Given the description of an element on the screen output the (x, y) to click on. 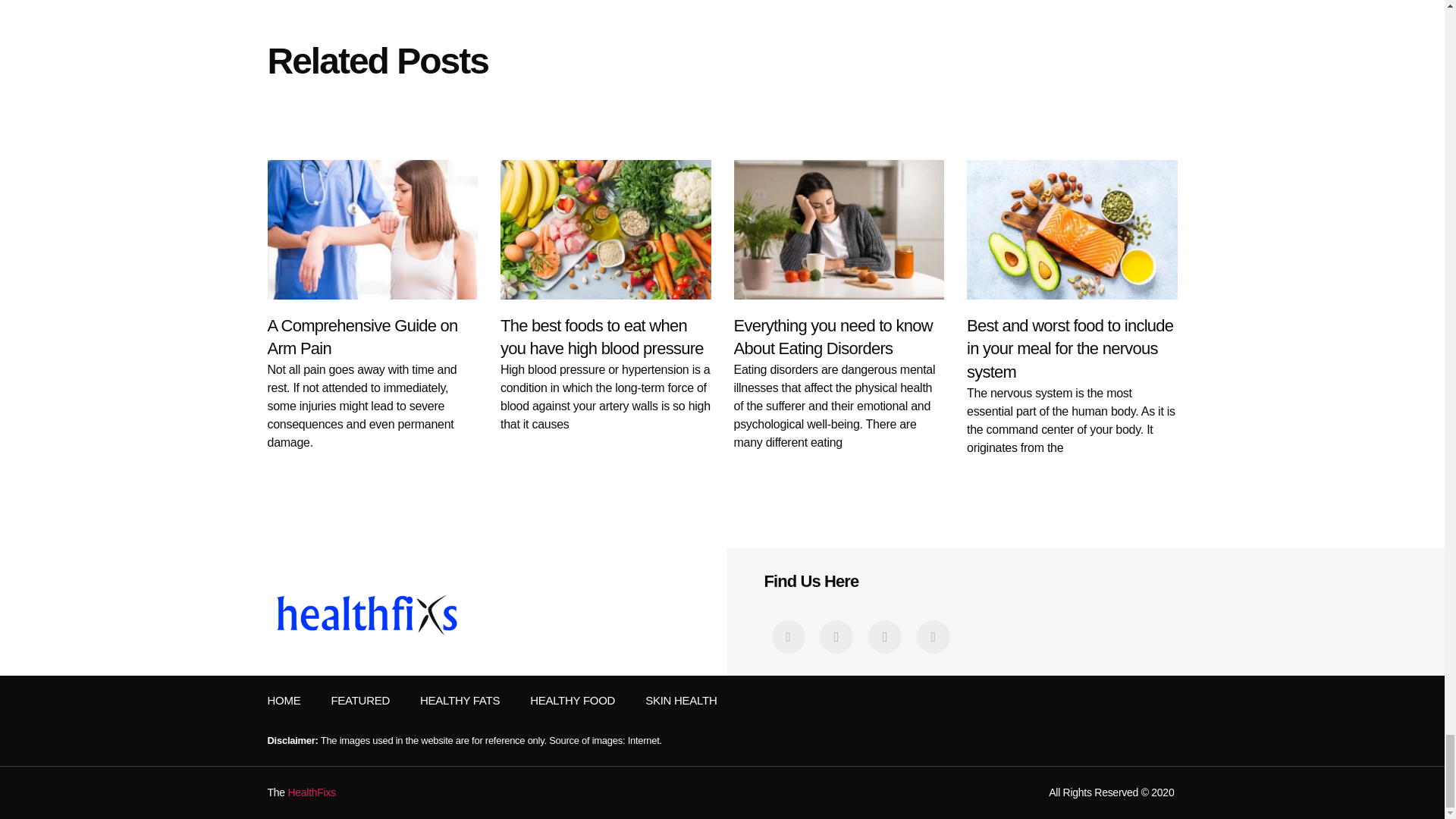
The best foods to eat when you have high blood pressure (601, 337)
HOME (282, 700)
Everything you need to know About Eating Disorders (833, 337)
A Comprehensive Guide on Arm Pain (361, 337)
